Given the description of an element on the screen output the (x, y) to click on. 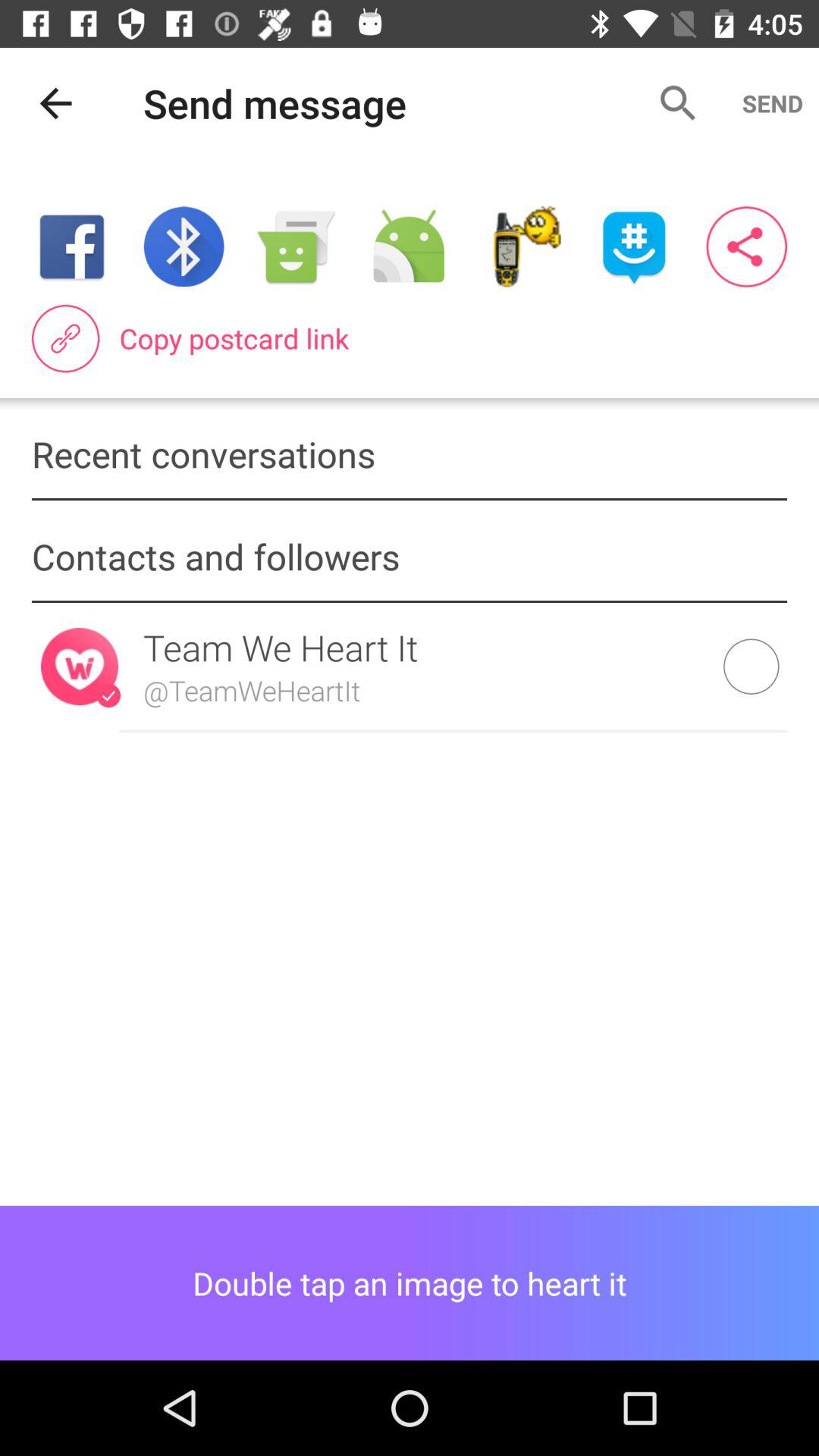
turn on bluetooth (183, 246)
